Given the description of an element on the screen output the (x, y) to click on. 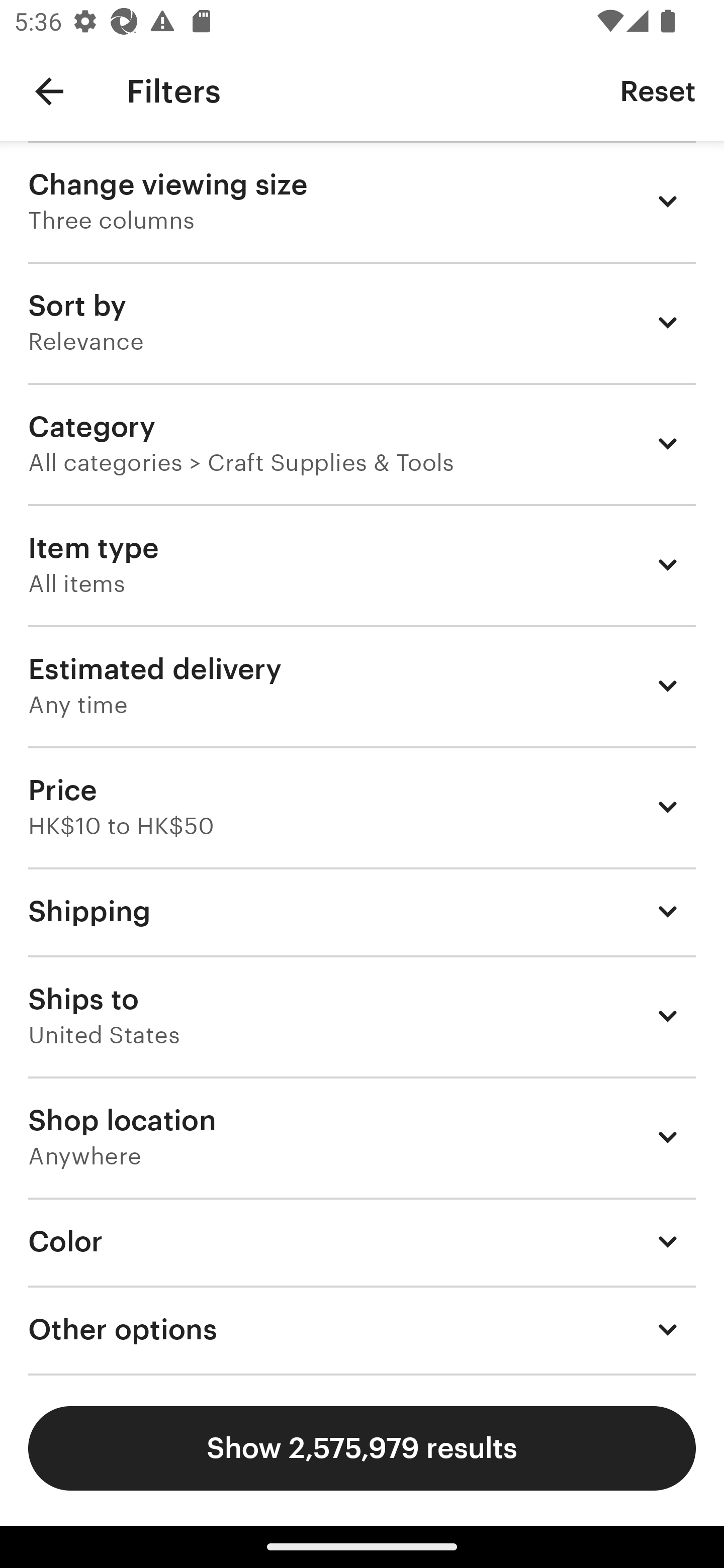
Navigate up (49, 91)
Reset (657, 90)
Change viewing size Three columns (362, 201)
Sort by Relevance (362, 321)
Category All categories > Craft Supplies & Tools (362, 442)
Item type All items (362, 564)
Estimated delivery Any time (362, 685)
Price HK$10 to HK$50 (362, 806)
Shipping (362, 910)
Ships to United States (362, 1015)
Shop location Anywhere (362, 1137)
Color (362, 1241)
Other options (362, 1329)
Show 2,575,979 results Show results (361, 1448)
